Given the description of an element on the screen output the (x, y) to click on. 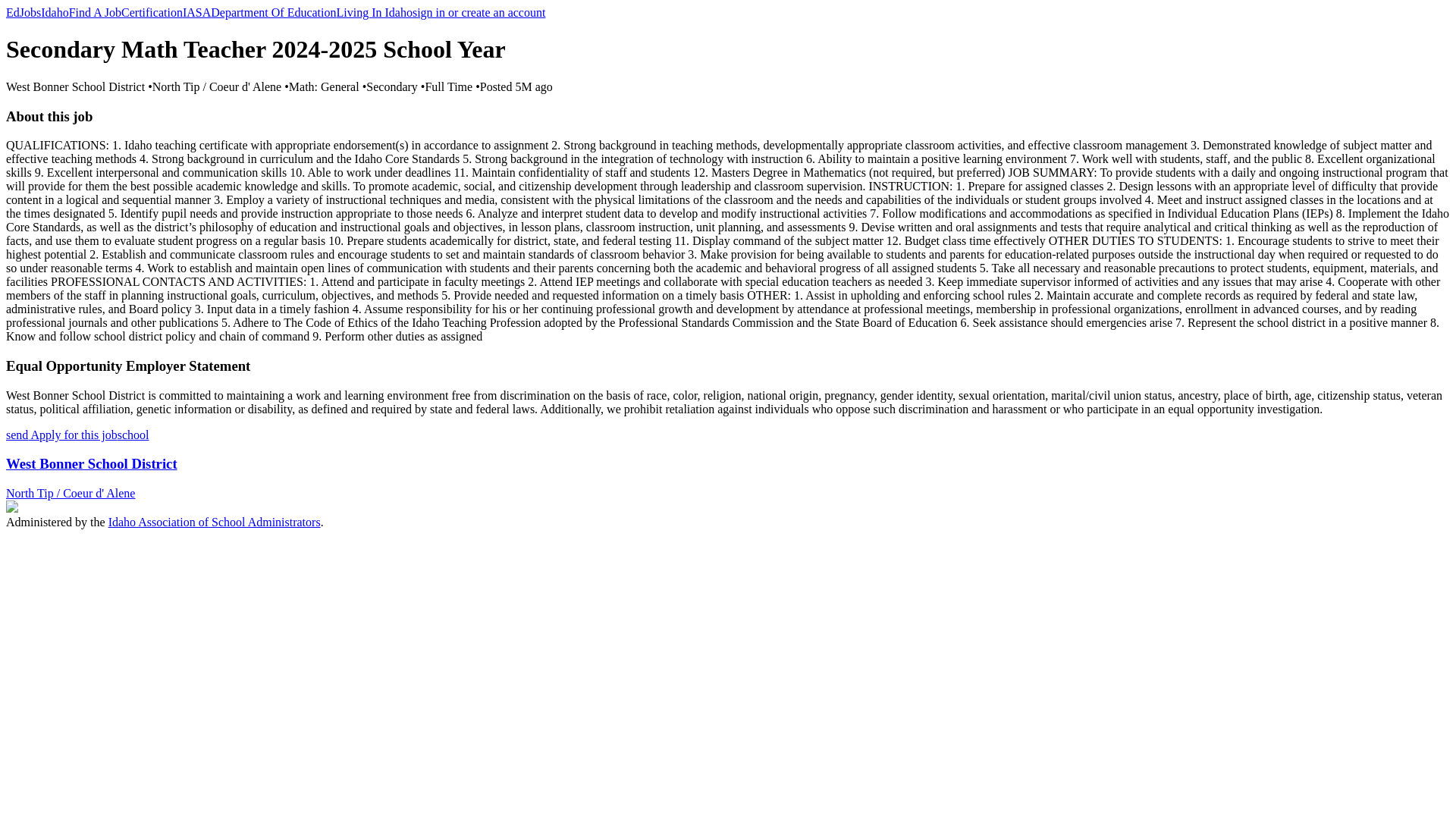
sign in or create an account (478, 11)
IASA (197, 11)
Living In Idaho (374, 11)
Certification (151, 11)
Department Of Education (273, 11)
send Apply for this job (61, 434)
Find A Job (94, 11)
EdJobsIdaho (36, 11)
